Given the description of an element on the screen output the (x, y) to click on. 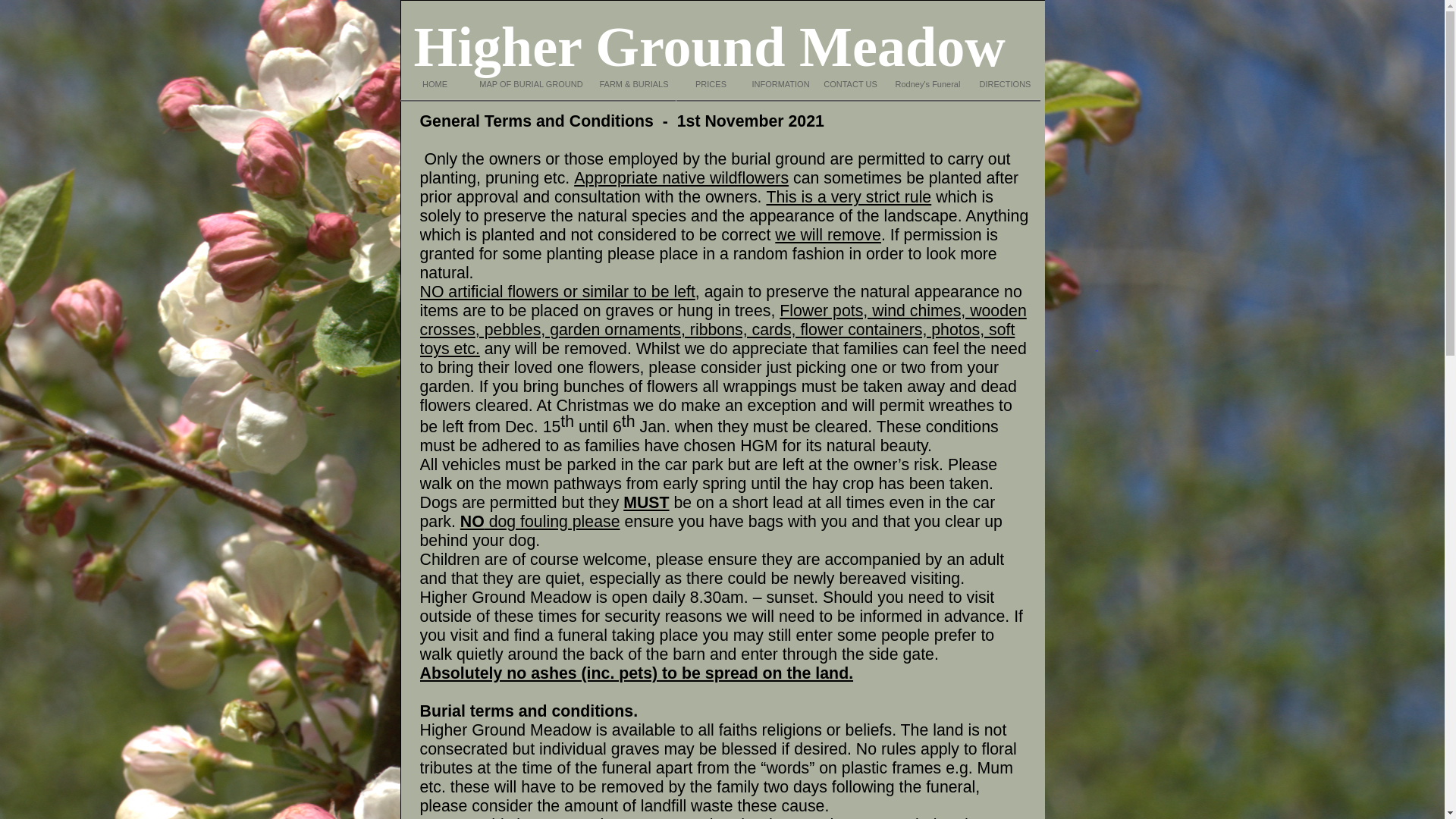
HOME (435, 84)
INFORMATION (780, 84)
PRICES (711, 84)
Rodney's Funeral (928, 84)
MAP OF BURIAL GROUND (531, 84)
DIRECTIONS (1006, 84)
CONTACT US (850, 84)
